Given the description of an element on the screen output the (x, y) to click on. 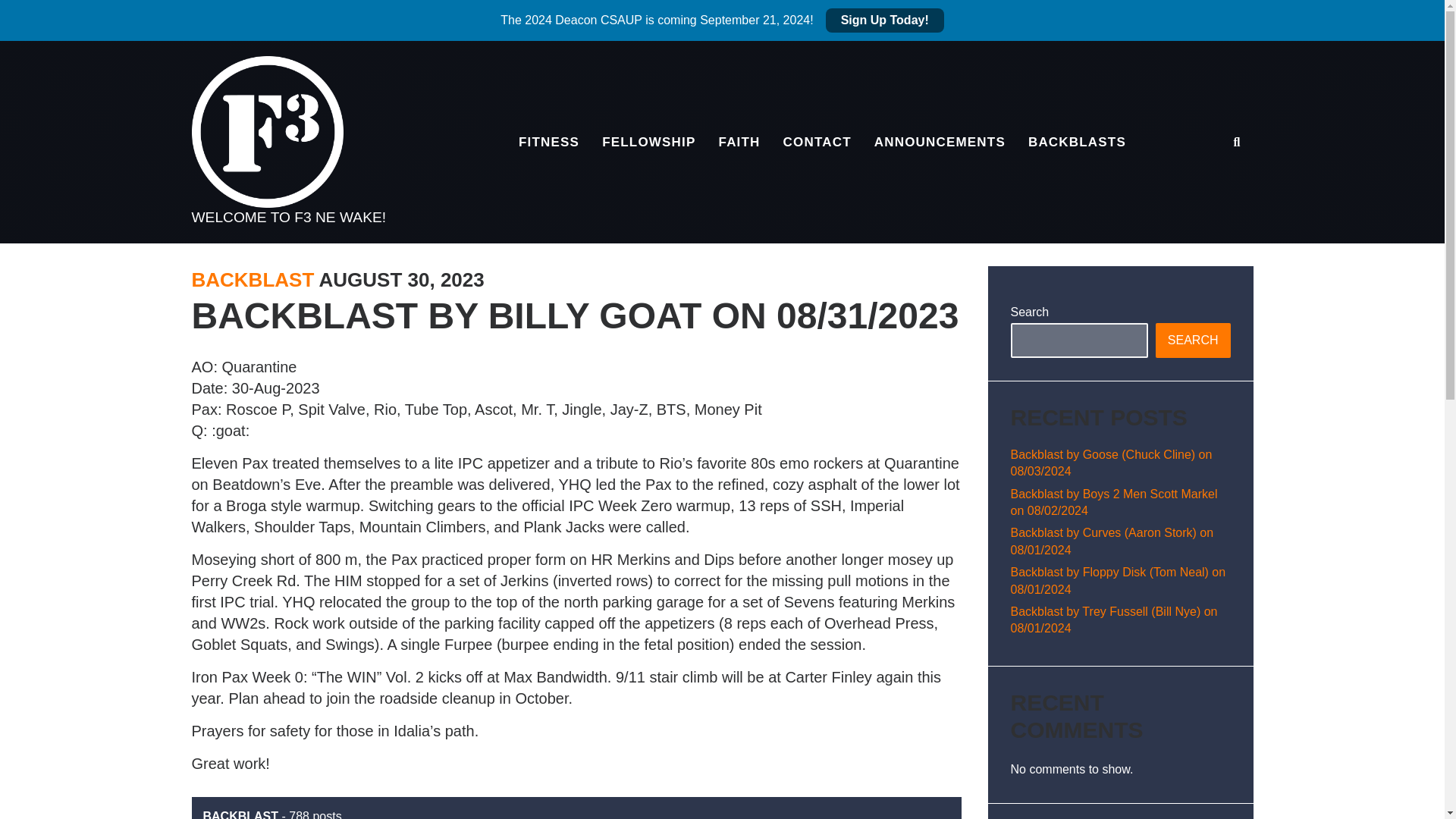
ANNOUNCEMENTS (939, 142)
BACKBLAST (252, 279)
FAITH (738, 142)
FITNESS (548, 142)
BACKBLASTS (1076, 142)
SEARCH (1193, 339)
788 posts (314, 814)
Search (1221, 198)
Sign Up Today! (884, 20)
CONTACT (817, 142)
